Given the description of an element on the screen output the (x, y) to click on. 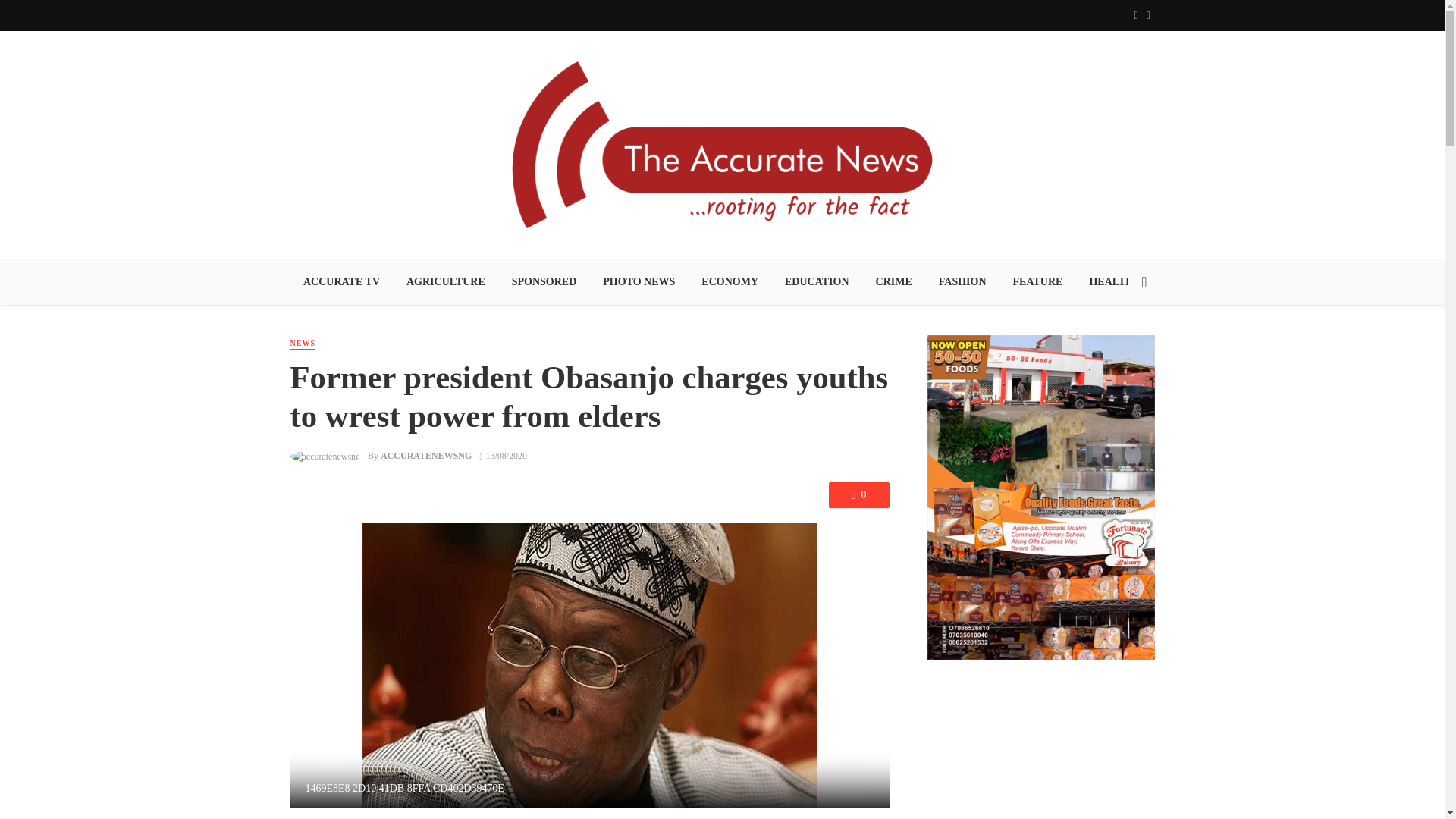
FEATURE (1036, 281)
August 13, 2020 at 9:18 am (503, 455)
SPONSORED (543, 281)
EDUCATION (817, 281)
NEWS (301, 343)
ACCURATENEWSNG (425, 455)
PHOTO NEWS (638, 281)
Posts by accuratenewsng (425, 455)
0 (858, 494)
ACCURATE TV (341, 281)
ECONOMY (729, 281)
AGRICULTURE (445, 281)
FASHION (961, 281)
CRIME (892, 281)
HEALTH (1111, 281)
